Given the description of an element on the screen output the (x, y) to click on. 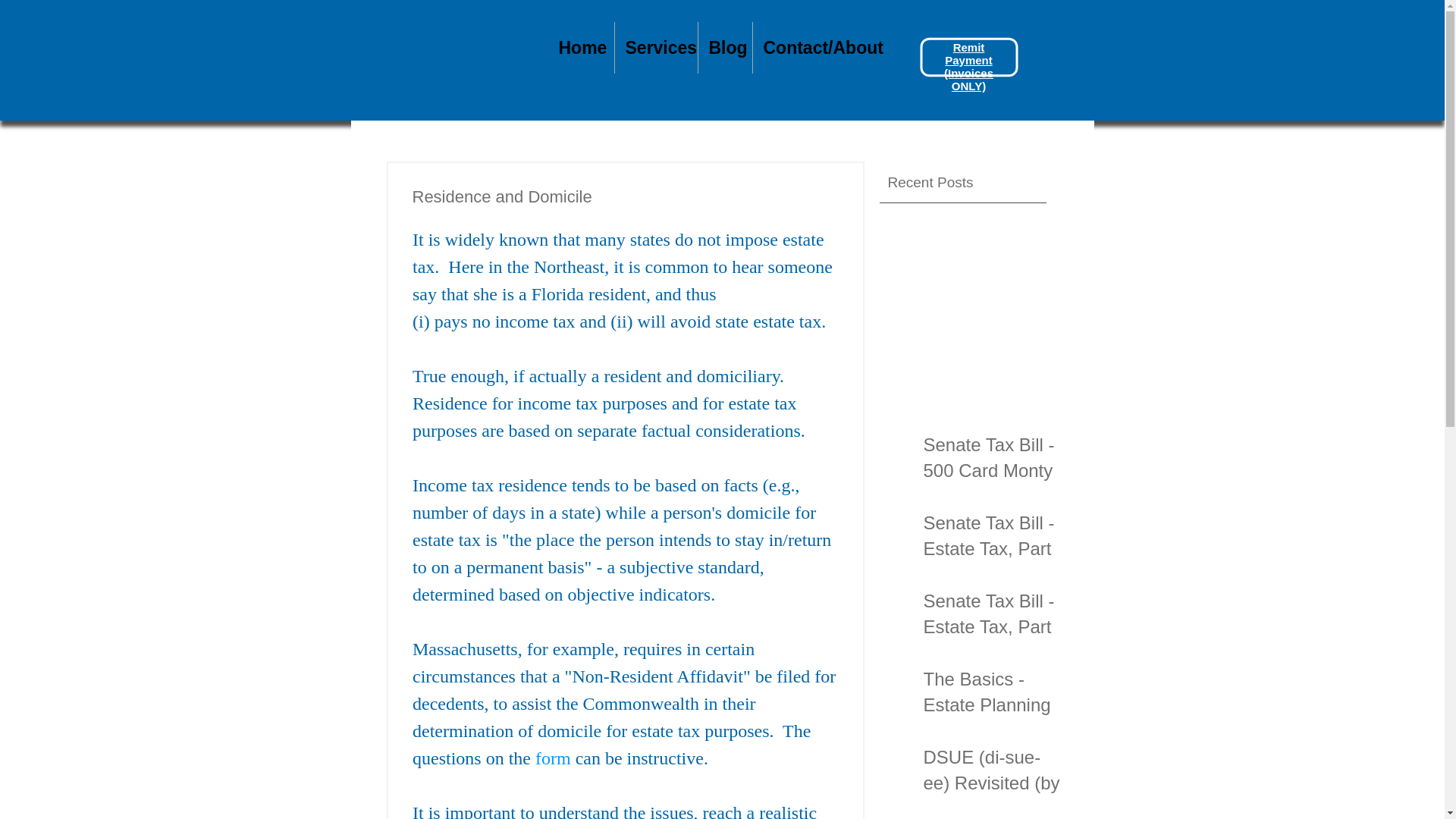
Home (579, 47)
The Basics - Estate Planning (992, 694)
form (552, 758)
Blog (724, 47)
